Given the description of an element on the screen output the (x, y) to click on. 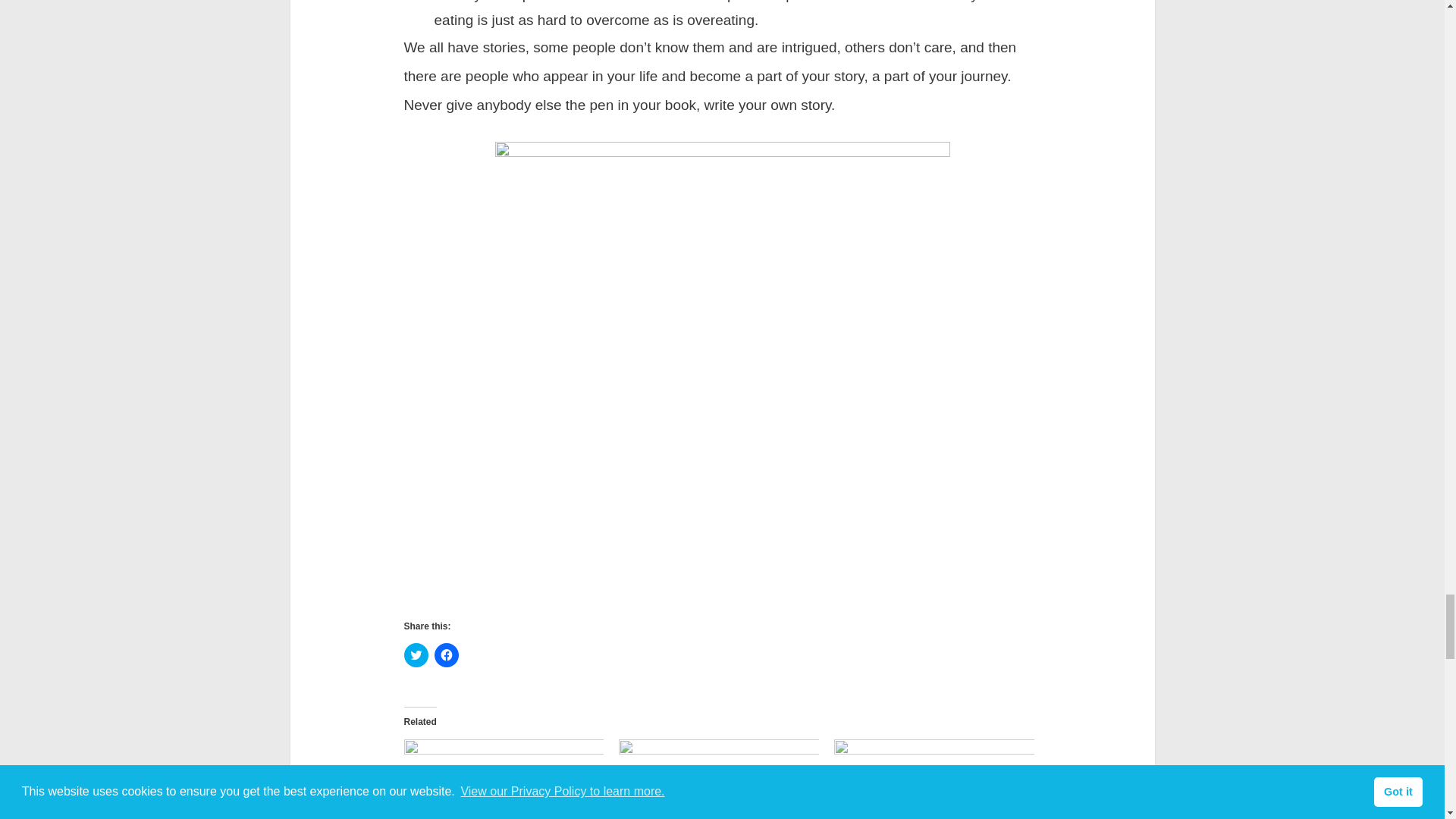
The Top 10 Sleekgeek Transformation Tuesday Stories of 2018 (503, 778)
Click to share on Twitter (415, 654)
Click to share on Facebook (445, 654)
Ethel Snyman lost 40kgs and built a fit lifestyle (933, 778)
